Given the description of an element on the screen output the (x, y) to click on. 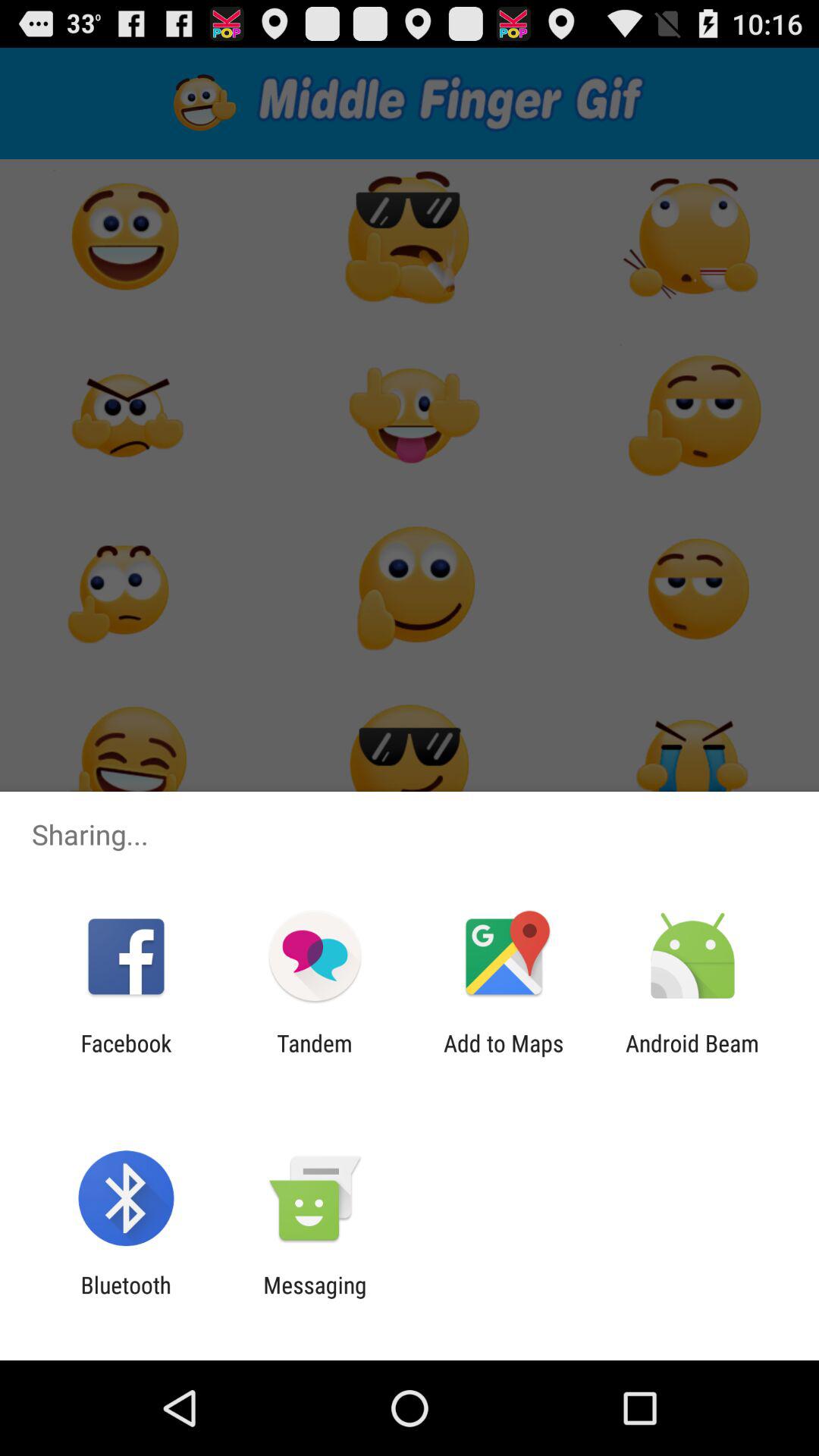
flip to the android beam app (692, 1056)
